Given the description of an element on the screen output the (x, y) to click on. 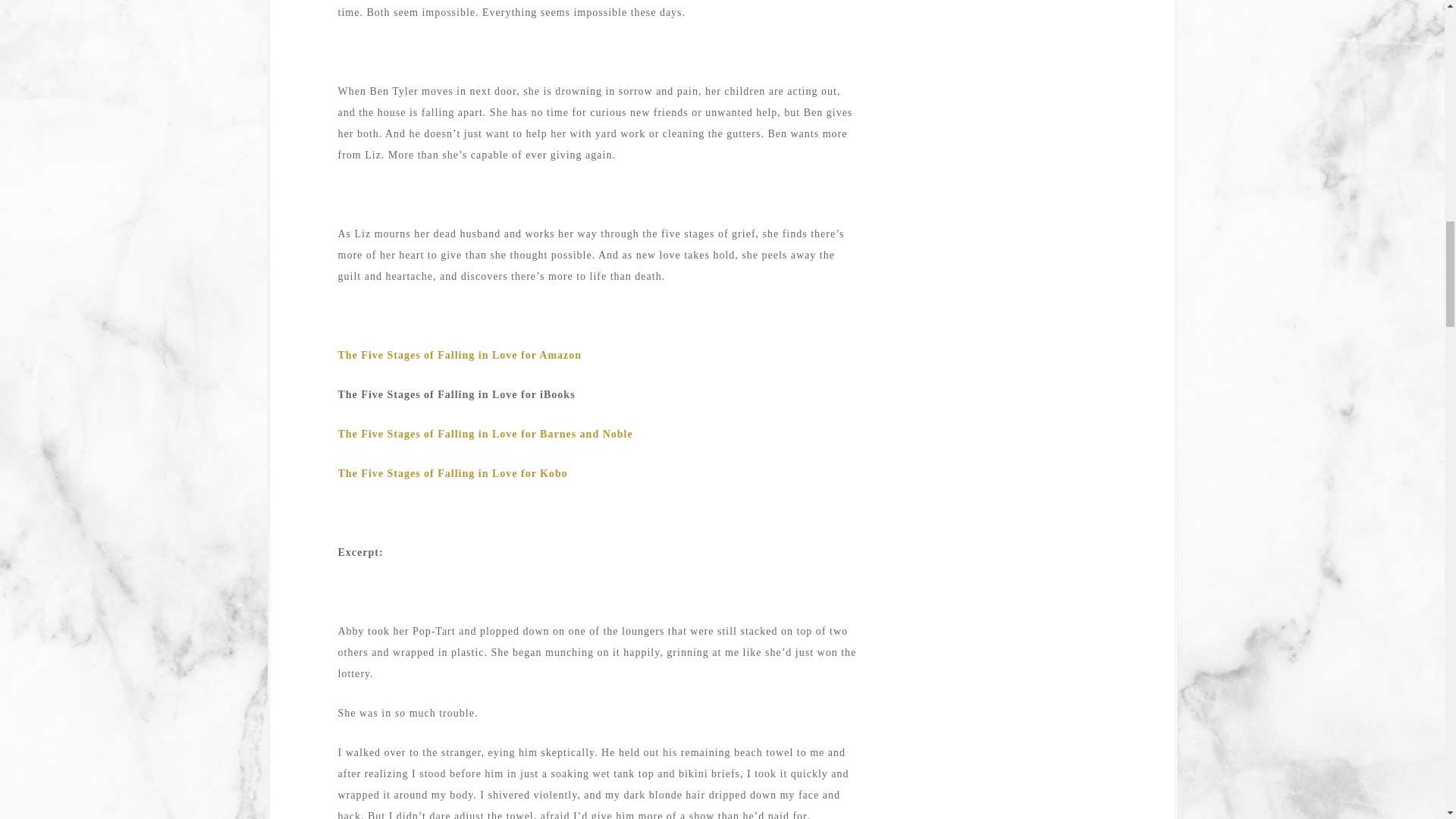
The Five Stages of Falling in Love for Amazon (459, 355)
The Five Stages of Falling in Love for Barnes and Noble (485, 433)
The Five Stages of Falling in Love for Kobo  (454, 473)
